Given the description of an element on the screen output the (x, y) to click on. 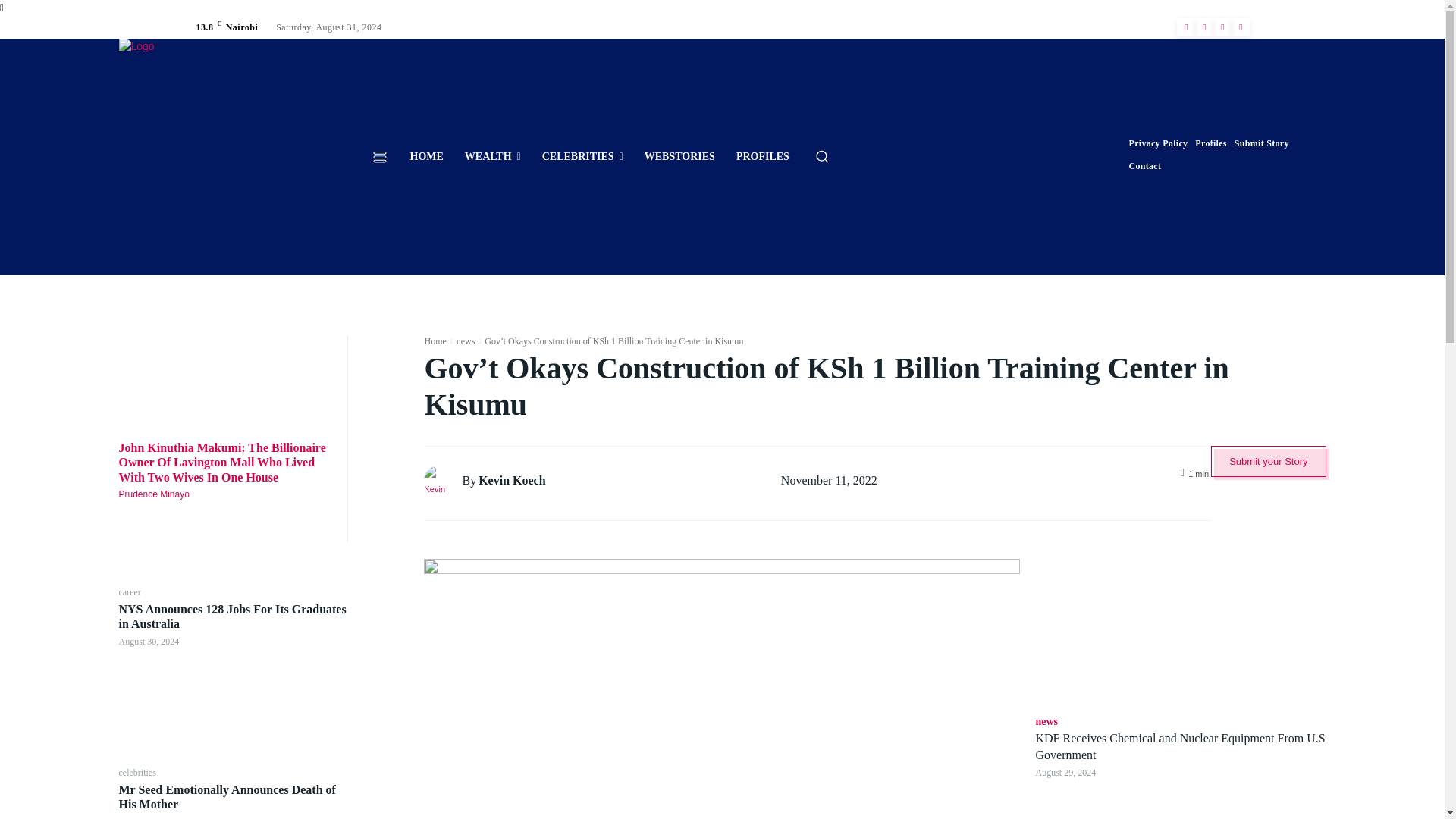
Youtube (1240, 27)
Twitter (1221, 27)
Facebook (1185, 27)
Instagram (1203, 27)
